Given the description of an element on the screen output the (x, y) to click on. 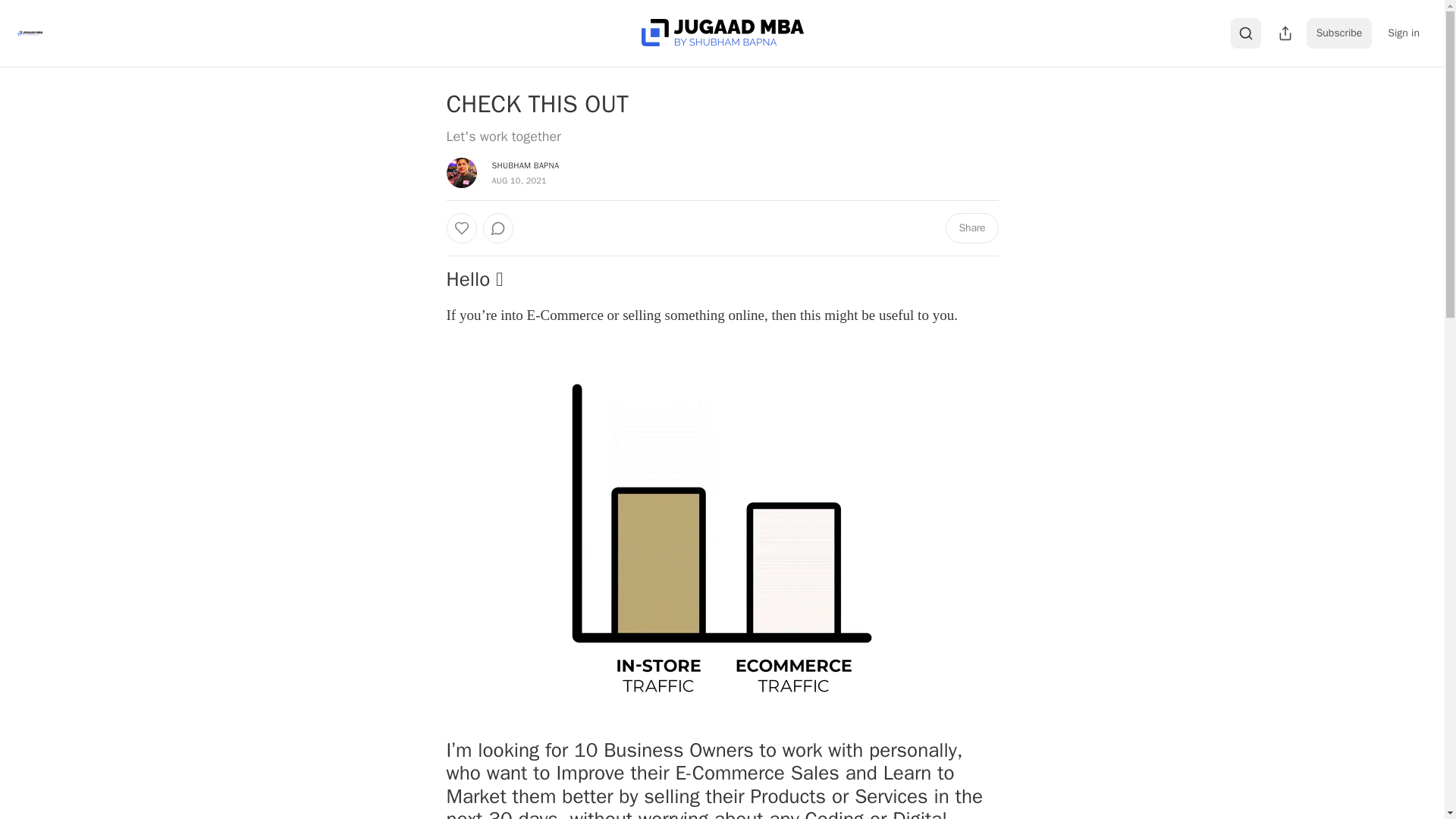
Sign in (1403, 33)
Share (970, 227)
SHUBHAM BAPNA (525, 164)
Subscribe (1339, 33)
